Given the description of an element on the screen output the (x, y) to click on. 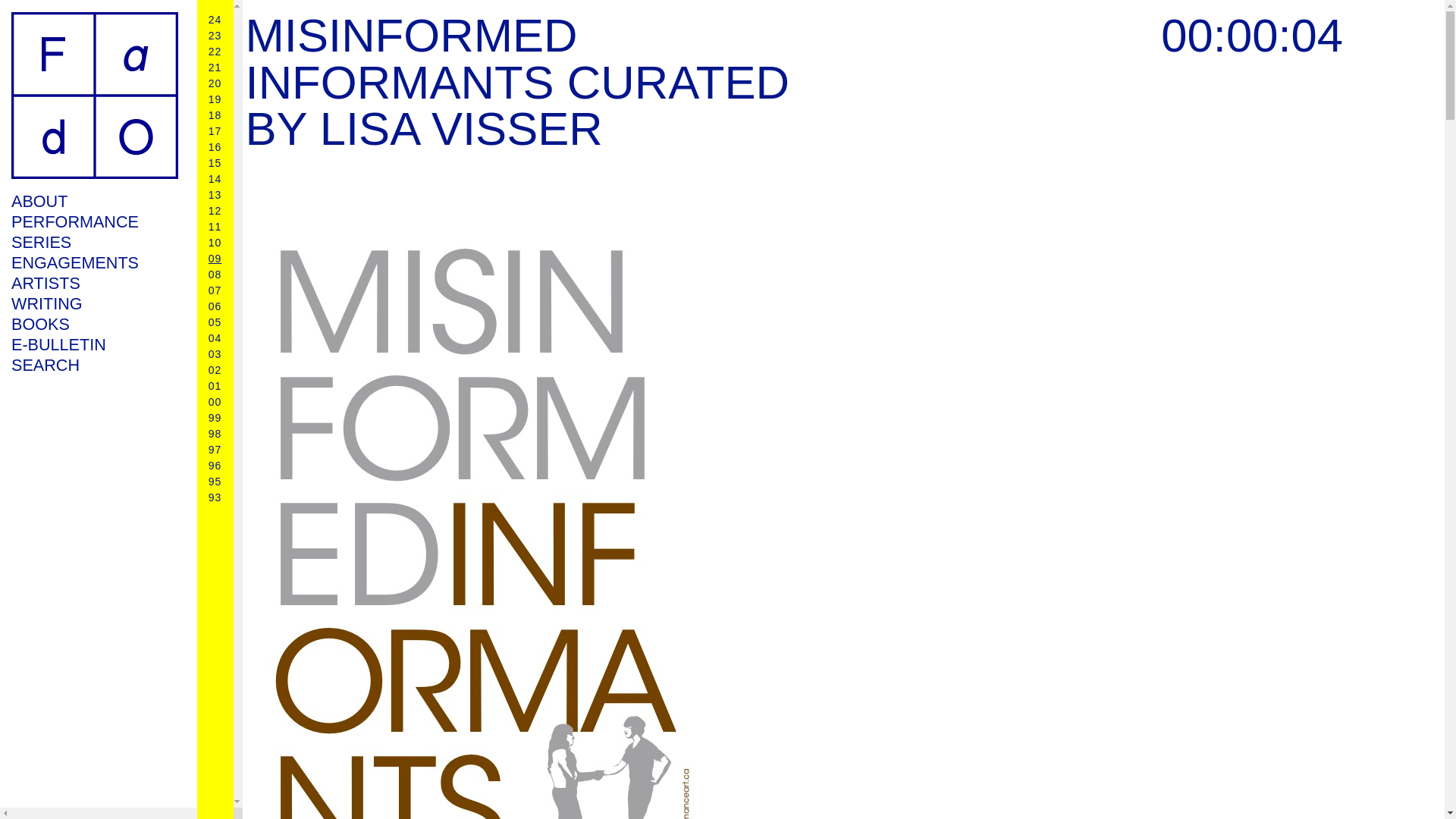
08 (215, 274)
PERFORMANCE (94, 221)
24 (215, 19)
ABOUT (94, 200)
SEARCH (94, 364)
09 (215, 258)
SERIES (94, 241)
E-BULLETIN (94, 344)
ENGAGEMENTS (94, 262)
06 (215, 306)
